Given the description of an element on the screen output the (x, y) to click on. 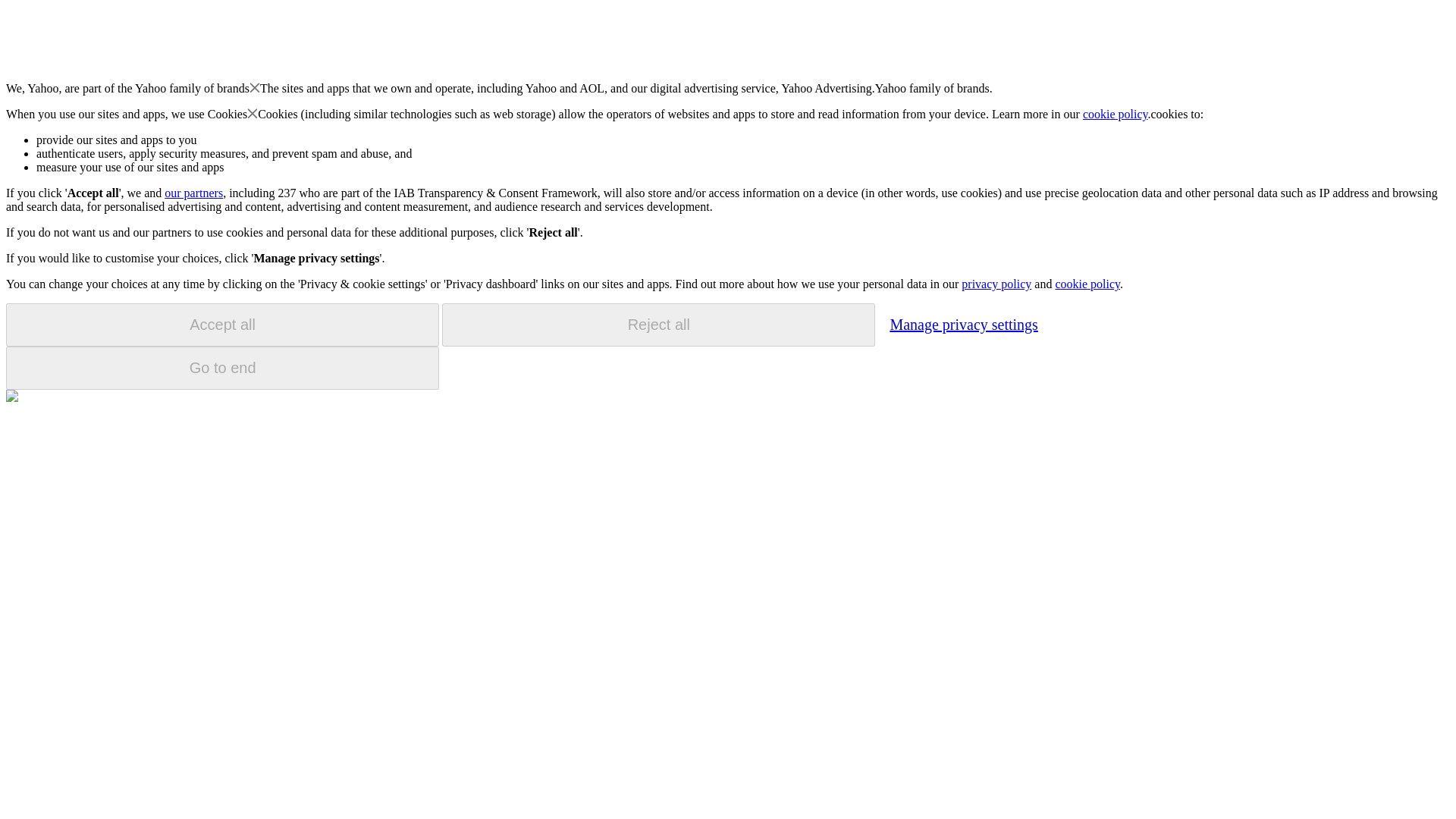
Accept all (222, 324)
Go to end (222, 367)
Reject all (658, 324)
Manage privacy settings (963, 323)
cookie policy (1115, 113)
our partners (193, 192)
cookie policy (1086, 283)
privacy policy (995, 283)
